Given the description of an element on the screen output the (x, y) to click on. 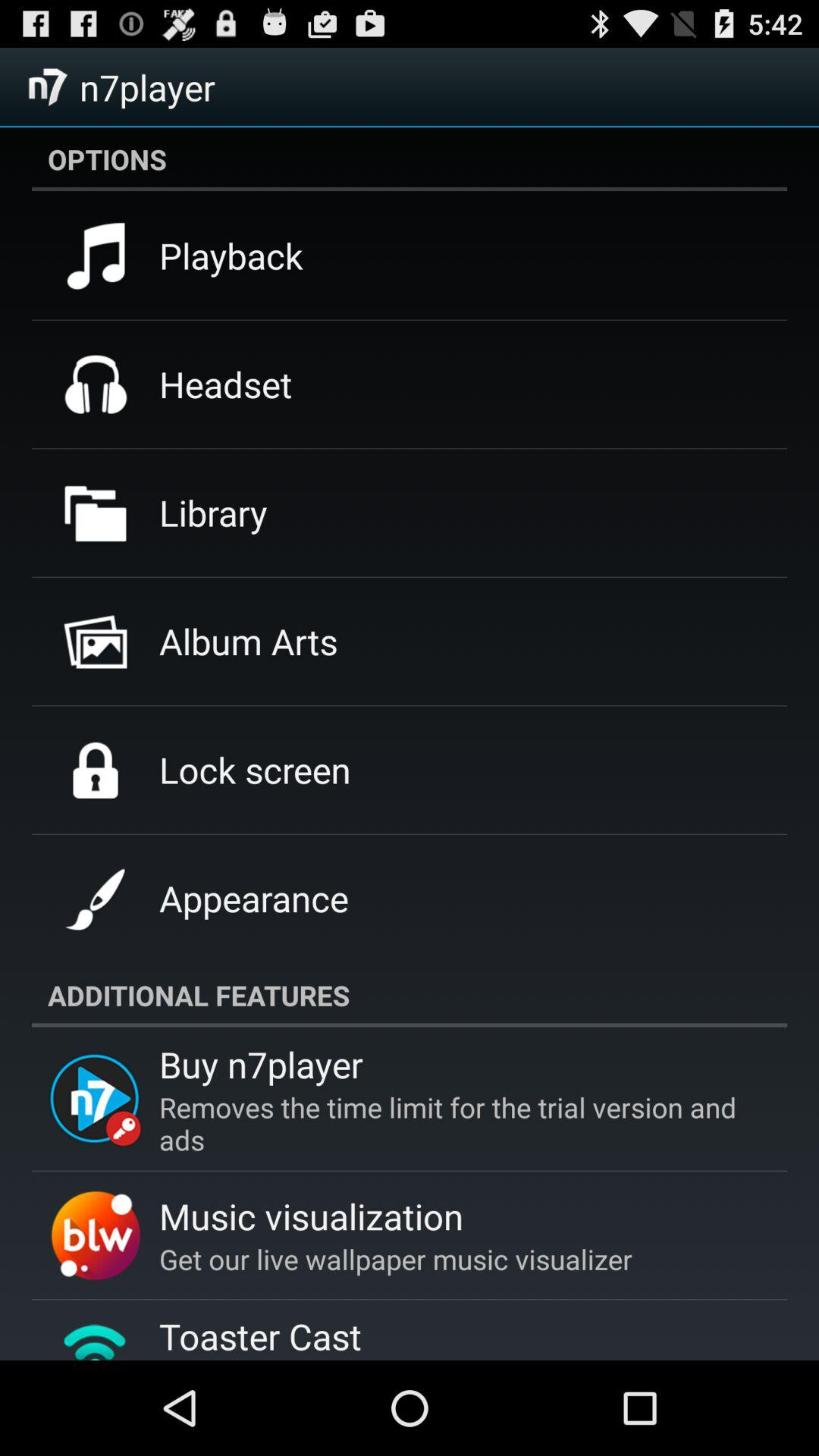
launch the icon below the buy n7player (455, 1123)
